Given the description of an element on the screen output the (x, y) to click on. 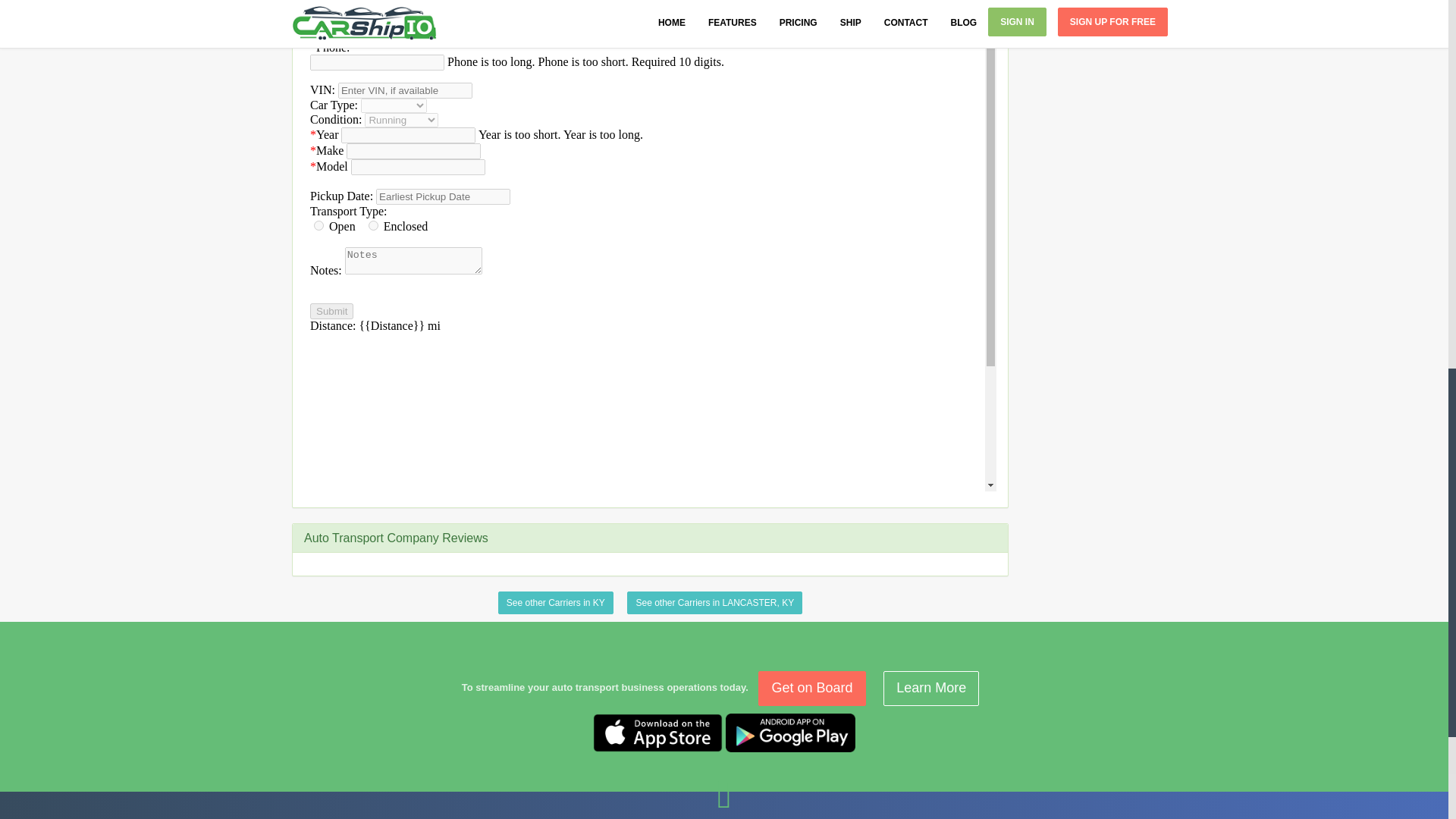
See other Carriers in KY (554, 602)
See other Carriers in LANCASTER, KY (714, 602)
Learn More (930, 687)
Get on Board (811, 687)
